Given the description of an element on the screen output the (x, y) to click on. 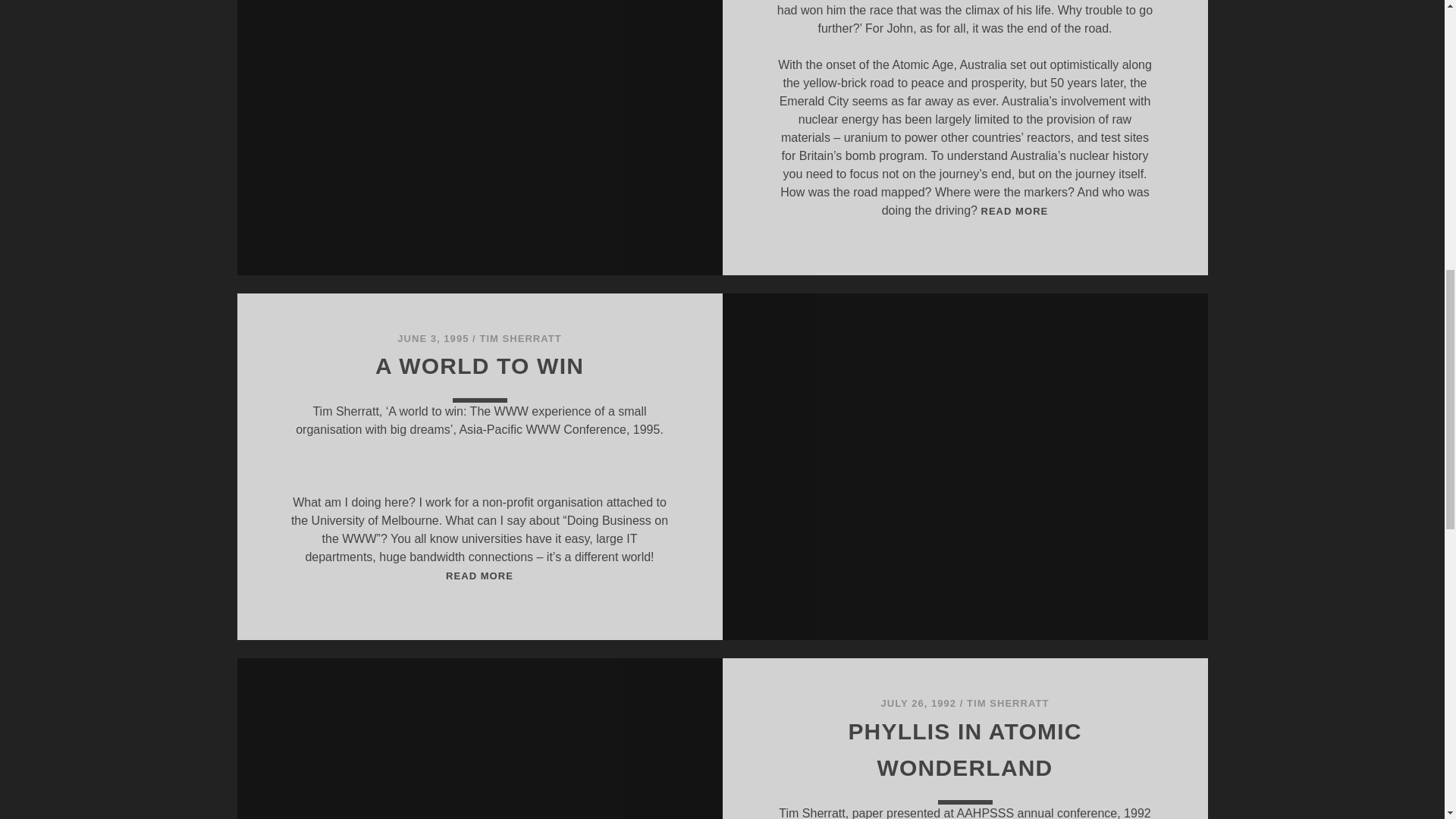
A WORLD TO WIN (479, 365)
TIM SHERRATT (1007, 703)
Posts by Tim Sherratt (1007, 703)
PHYLLIS IN ATOMIC WONDERLAND (964, 749)
TIM SHERRATT (519, 337)
Posts by Tim Sherratt (519, 337)
